Given the description of an element on the screen output the (x, y) to click on. 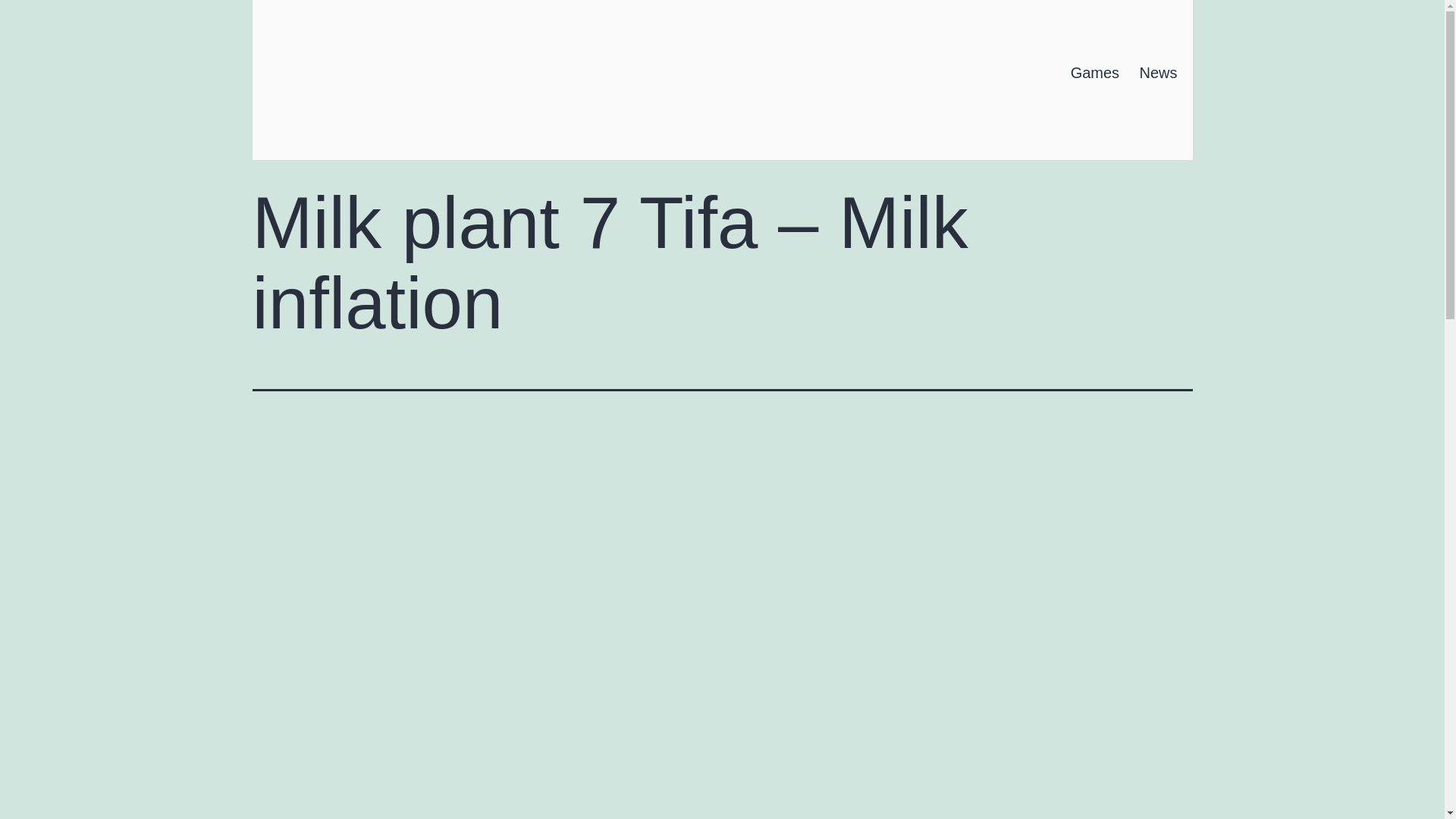
News (1157, 72)
2 Adult Flash Games (350, 69)
Games (1094, 72)
